Given the description of an element on the screen output the (x, y) to click on. 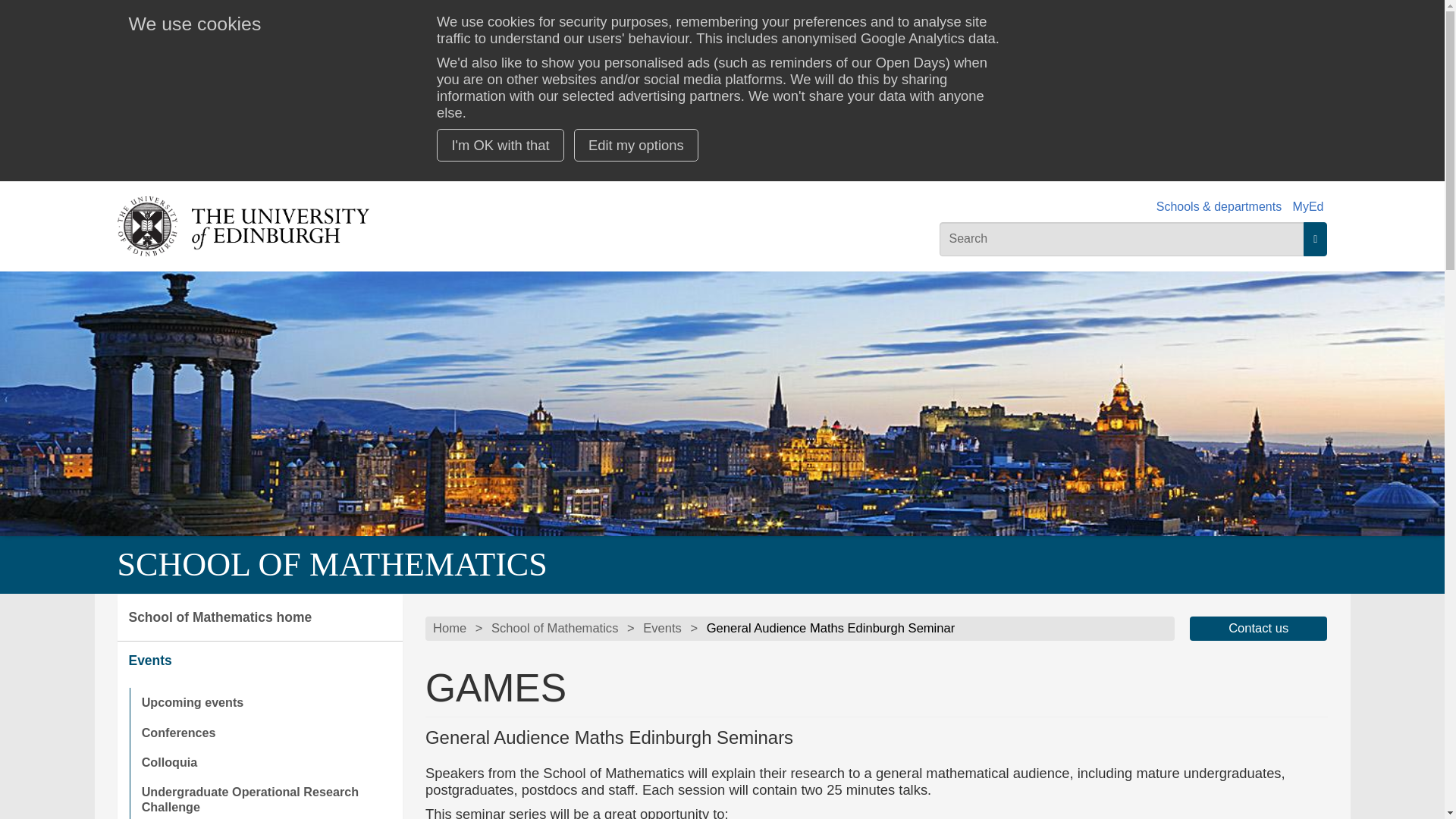
Upcoming events (266, 702)
Undergraduate Operational Research Challenge (266, 798)
Contact us (1258, 628)
MyEd (1307, 205)
School of Mathematics home (259, 617)
SCHOOL OF MATHEMATICS (331, 564)
Events (259, 660)
Colloquia (266, 762)
Conferences (266, 732)
School of Mathematics (554, 628)
